Given the description of an element on the screen output the (x, y) to click on. 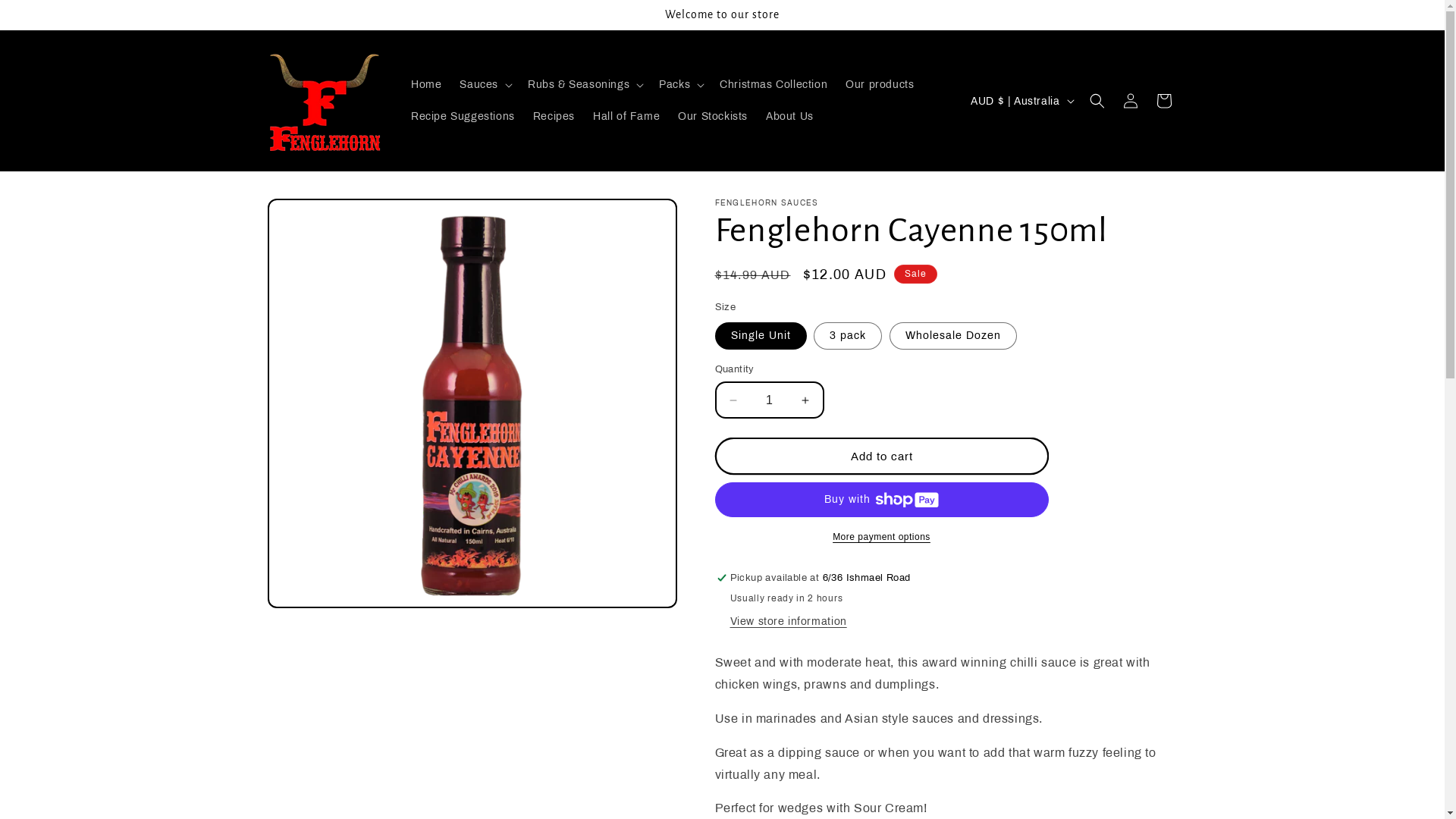
AUD $ | Australia Element type: text (1020, 100)
Log in Element type: text (1129, 100)
Cart Element type: text (1162, 100)
Recipe Suggestions Element type: text (462, 116)
About Us Element type: text (789, 116)
Add to cart Element type: text (881, 455)
Christmas Collection Element type: text (773, 84)
View store information Element type: text (787, 621)
Recipes Element type: text (553, 116)
Our Stockists Element type: text (712, 116)
Increase quantity for Fenglehorn Cayenne 150ml Element type: text (805, 399)
Hall of Fame Element type: text (625, 116)
Our products Element type: text (879, 84)
Skip to product information Element type: text (313, 216)
Decrease quantity for Fenglehorn Cayenne 150ml Element type: text (732, 399)
More payment options Element type: text (881, 536)
Home Element type: text (425, 84)
